Given the description of an element on the screen output the (x, y) to click on. 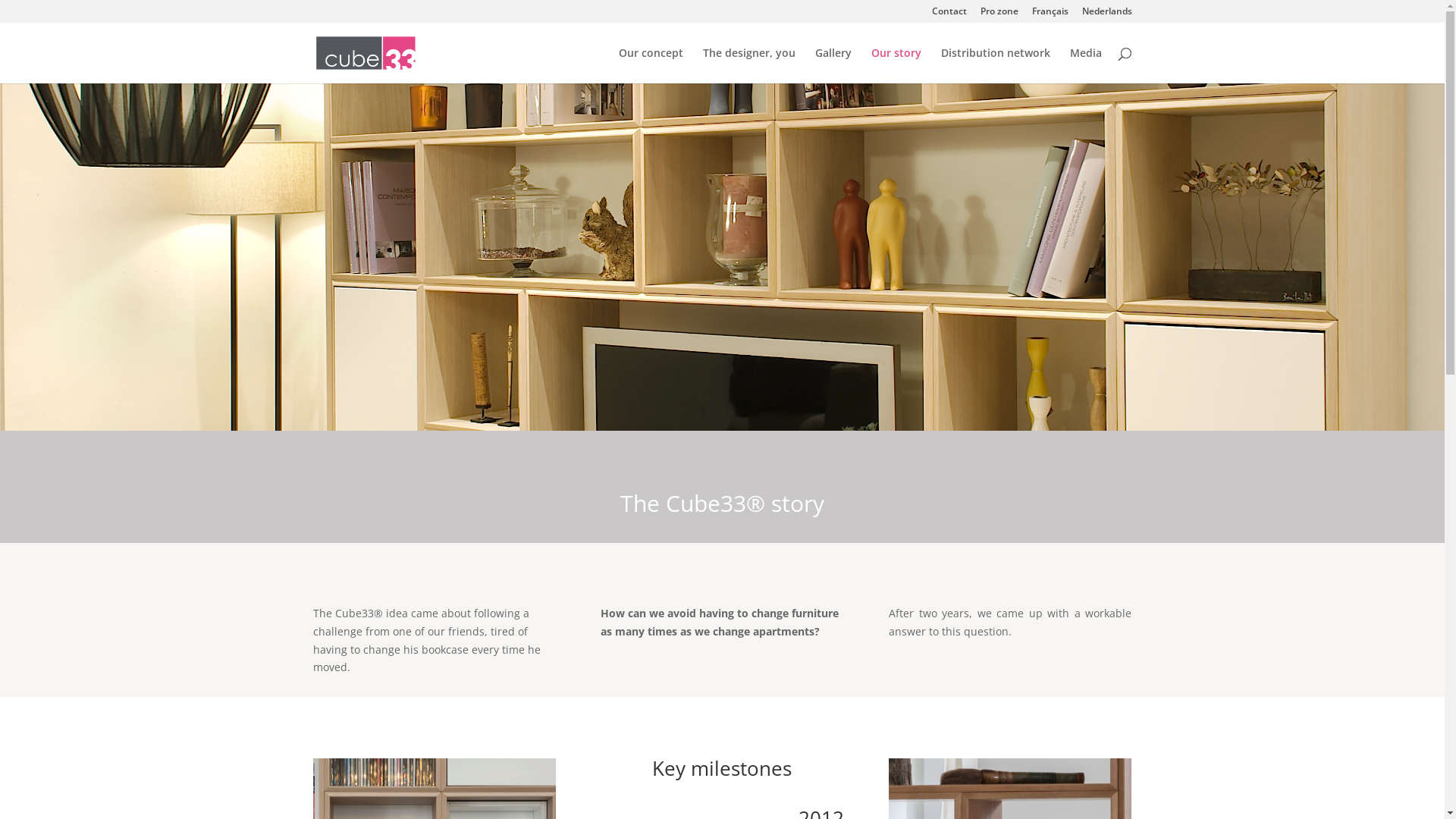
Media Element type: text (1085, 65)
Nederlands Element type: text (1106, 14)
Gallery Element type: text (832, 65)
Our story Element type: text (895, 65)
The designer, you Element type: text (748, 65)
Contact Element type: text (948, 14)
Distribution network Element type: text (994, 65)
Pro zone Element type: text (998, 14)
Our concept Element type: text (650, 65)
